Given the description of an element on the screen output the (x, y) to click on. 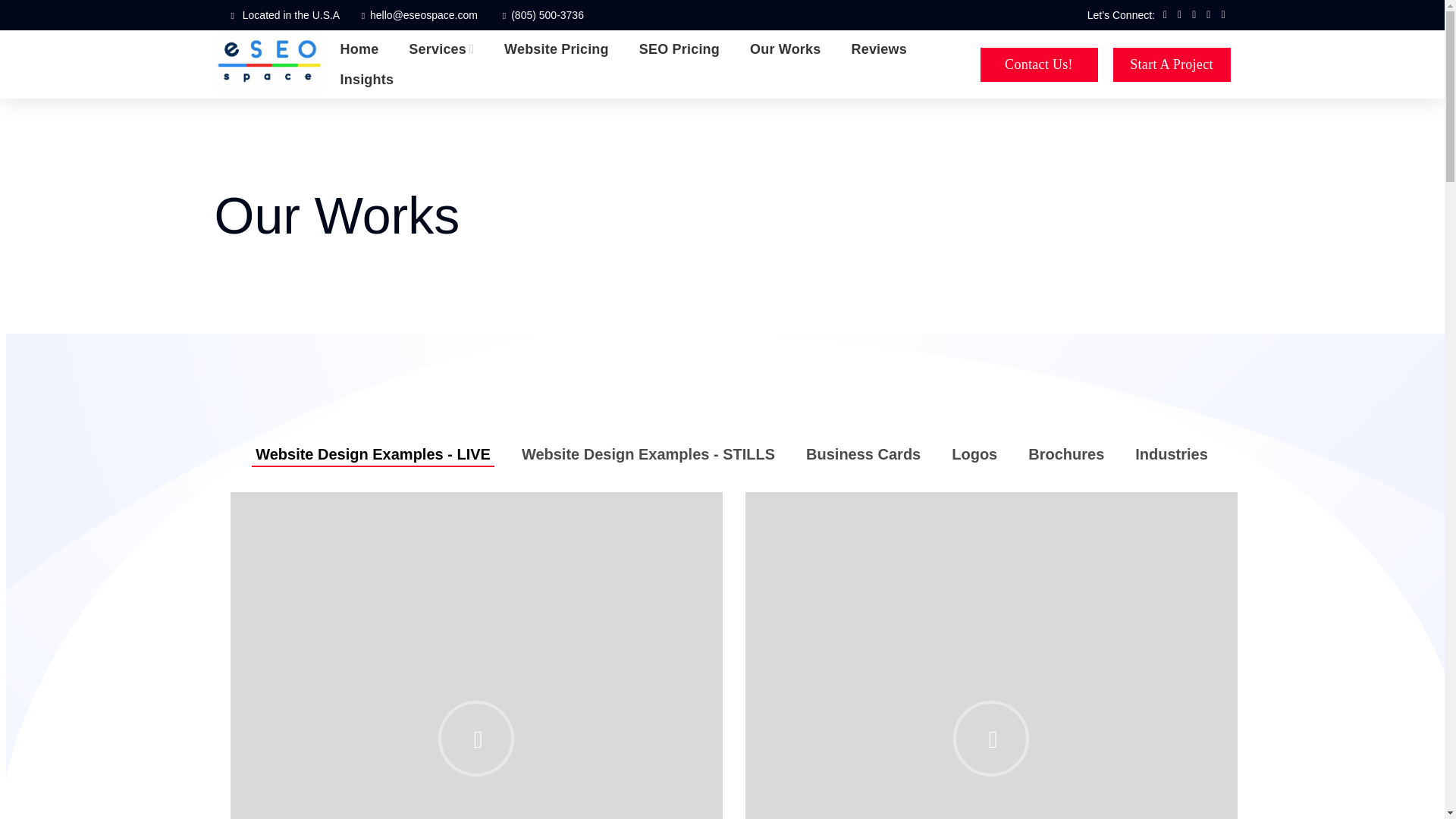
Located in the U.S.A  (291, 15)
Home (360, 49)
Pinterest (1193, 14)
Industries (1171, 459)
Website Design Examples - LIVE (372, 459)
Website Pricing (555, 49)
Insights (367, 79)
Brochures (1066, 459)
Business Cards (863, 459)
Our Works (785, 49)
Services (441, 49)
SEO Pricing (678, 49)
linkedin (1208, 14)
Facebook (1164, 14)
